Given the description of an element on the screen output the (x, y) to click on. 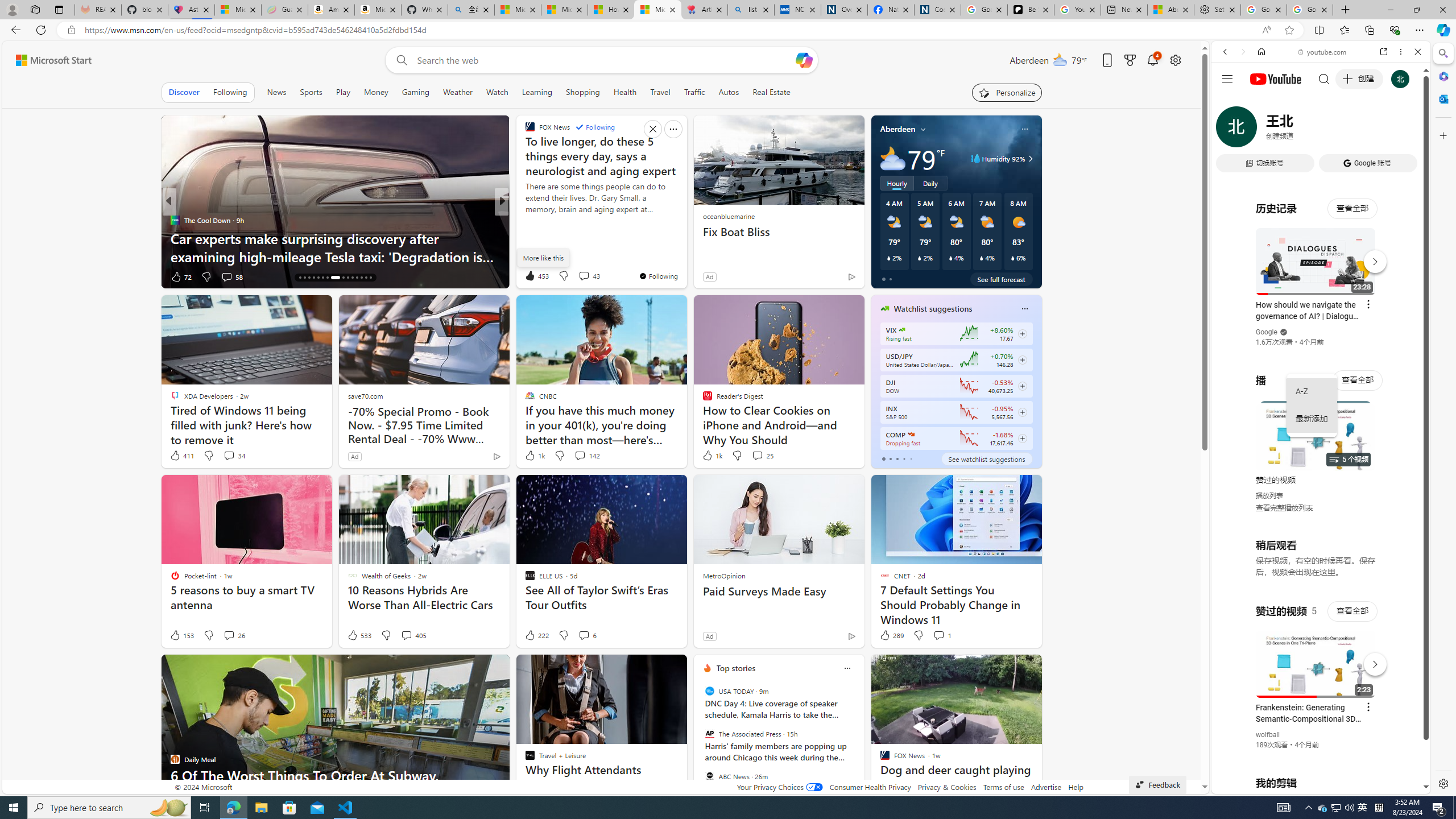
FOX News (524, 219)
MetroOpinion (723, 574)
Mostly cloudy (892, 158)
AutomationID: tab-27 (356, 277)
